Given the description of an element on the screen output the (x, y) to click on. 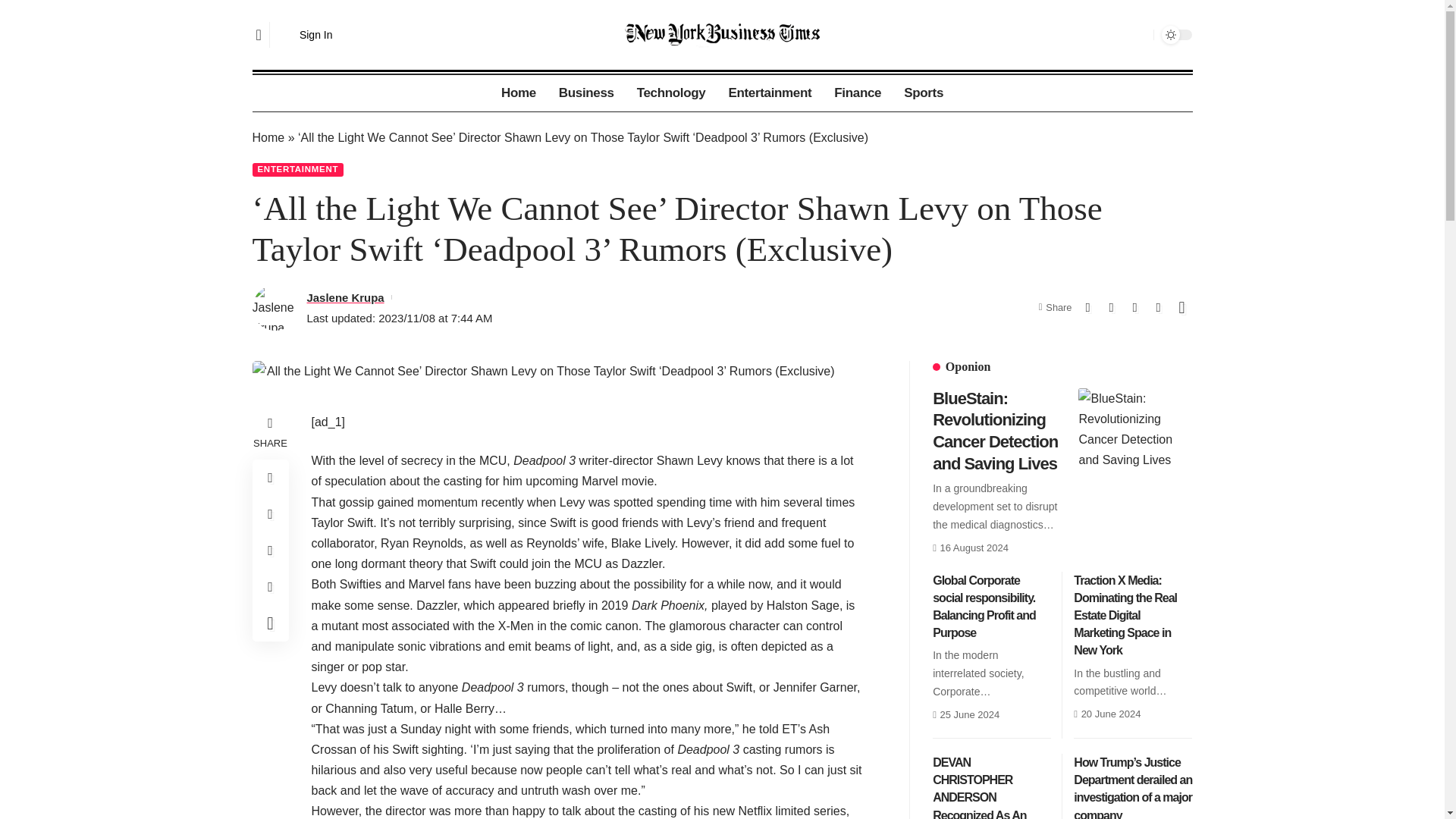
BlueStain: Revolutionizing Cancer Detection and Saving Lives (1135, 445)
Entertainment (769, 93)
Sports (923, 93)
ENTERTAINMENT (297, 169)
Technology (671, 93)
Business (586, 93)
Home (518, 93)
Home (267, 137)
Finance (857, 93)
Jaslene Krupa (344, 297)
